Given the description of an element on the screen output the (x, y) to click on. 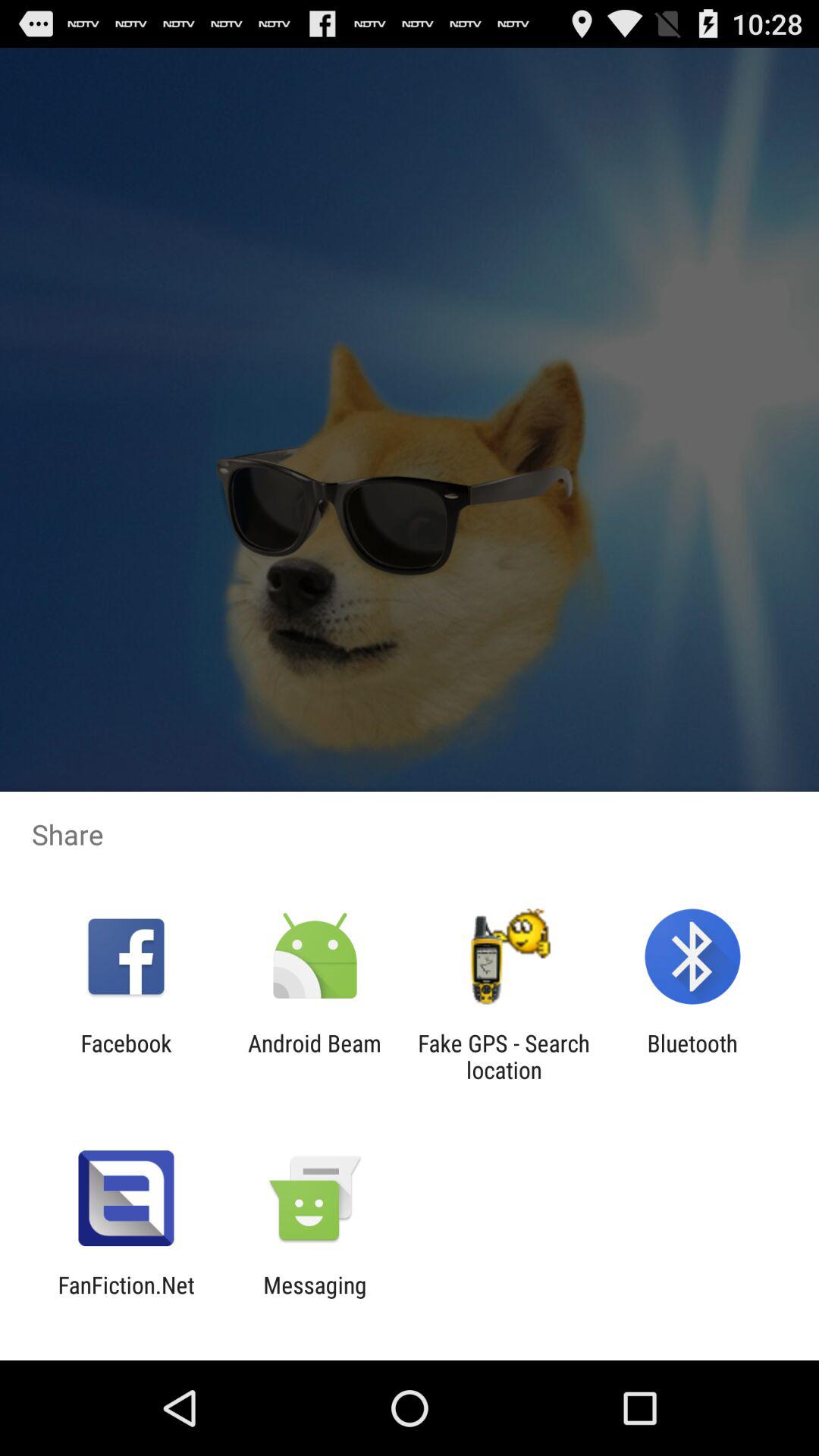
launch the bluetooth item (692, 1056)
